Given the description of an element on the screen output the (x, y) to click on. 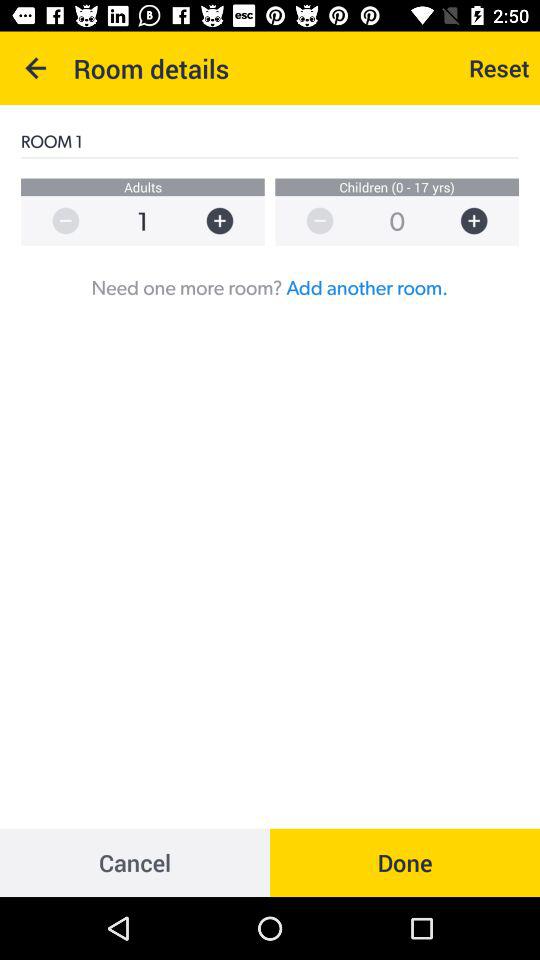
jump to the add another room. icon (367, 287)
